Given the description of an element on the screen output the (x, y) to click on. 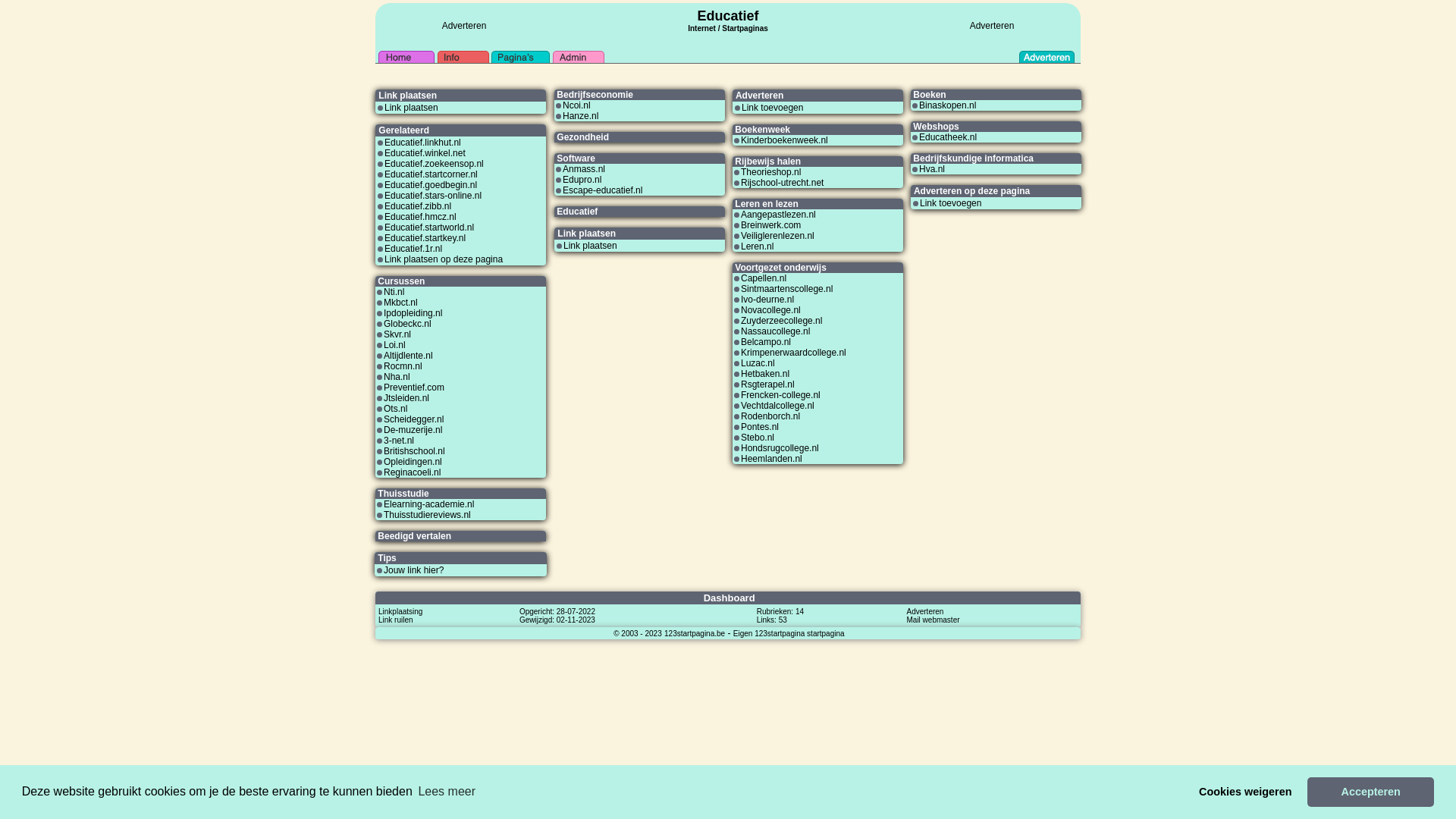
Educatief.linkhut.nl Element type: text (422, 142)
Educatief.zibb.nl Element type: text (417, 205)
Nassaucollege.nl Element type: text (774, 331)
Nti.nl Element type: text (393, 291)
Hva.nl Element type: text (931, 168)
Hondsrugcollege.nl Element type: text (779, 447)
Scheidegger.nl Element type: text (413, 419)
Edupro.nl Element type: text (581, 179)
Mkbct.nl Element type: text (400, 302)
Jouw link hier? Element type: text (413, 569)
Cookies weigeren Element type: text (1245, 791)
Altijdlente.nl Element type: text (408, 355)
Jtsleiden.nl Element type: text (406, 397)
Vechtdalcollege.nl Element type: text (777, 405)
Link toevoegen Element type: text (950, 202)
Stebo.nl Element type: text (757, 437)
Globeckc.nl Element type: text (407, 323)
Novacollege.nl Element type: text (770, 309)
Ivo-deurne.nl Element type: text (766, 299)
Educatief Element type: text (727, 15)
Mail webmaster Element type: text (933, 619)
Opleidingen.nl Element type: text (412, 461)
Rocmn.nl Element type: text (402, 365)
Nha.nl Element type: text (396, 376)
Internet Element type: text (701, 26)
Belcampo.nl Element type: text (765, 341)
Educatief.hmcz.nl Element type: text (420, 216)
Adverteren Element type: text (464, 25)
Hanze.nl Element type: text (580, 115)
Rsgterapel.nl Element type: text (767, 384)
Kinderboekenweek.nl Element type: text (784, 139)
Aangepastlezen.nl Element type: text (777, 214)
Educatief.startkey.nl Element type: text (424, 237)
Zuyderzeecollege.nl Element type: text (781, 320)
De-muzerije.nl Element type: text (412, 429)
Accepteren Element type: text (1370, 791)
Link plaatsen op deze pagina Element type: text (443, 259)
Educatief.1r.nl Element type: text (413, 248)
Linkplaatsing Element type: text (400, 610)
Elearning-academie.nl Element type: text (428, 503)
Educatief.zoekeensop.nl Element type: text (433, 163)
Escape-educatief.nl Element type: text (602, 190)
Loi.nl Element type: text (394, 344)
Pontes.nl Element type: text (759, 426)
Eigen 123startpagina startpagina Element type: text (788, 632)
Educatief.startworld.nl Element type: text (428, 227)
Rijschool-utrecht.net Element type: text (781, 182)
Ipdopleiding.nl Element type: text (412, 312)
Reginacoeli.nl Element type: text (411, 472)
Startpaginas Element type: text (744, 28)
Krimpenerwaardcollege.nl Element type: text (793, 352)
Sintmaartenscollege.nl Element type: text (786, 288)
Adverteren Element type: text (925, 610)
Educatheek.nl Element type: text (947, 136)
Veiliglerenlezen.nl Element type: text (777, 235)
Link ruilen Element type: text (395, 619)
Britishschool.nl Element type: text (414, 450)
Link toevoegen Element type: text (772, 107)
Breinwerk.com Element type: text (770, 224)
Binaskopen.nl Element type: text (947, 105)
Ots.nl Element type: text (395, 408)
Theorieshop.nl Element type: text (770, 171)
Preventief.com Element type: text (413, 387)
Link plaatsen Element type: text (590, 245)
3-net.nl Element type: text (398, 440)
Frencken-college.nl Element type: text (780, 394)
Thuisstudiereviews.nl Element type: text (426, 514)
Educatief.winkel.net Element type: text (424, 152)
Luzac.nl Element type: text (757, 362)
123startpagina.be Element type: text (694, 632)
Heemlanden.nl Element type: text (771, 458)
Educatief.goedbegin.nl Element type: text (430, 184)
Capellen.nl Element type: text (763, 278)
Educatief.startcorner.nl Element type: text (430, 174)
Skvr.nl Element type: text (397, 334)
Anmass.nl Element type: text (583, 168)
Ncoi.nl Element type: text (576, 105)
Adverteren Element type: text (991, 25)
Link plaatsen Element type: text (411, 107)
Hetbaken.nl Element type: text (764, 373)
Educatief.stars-online.nl Element type: text (432, 195)
Rodenborch.nl Element type: text (770, 416)
Leren.nl Element type: text (756, 246)
Lees meer Element type: text (446, 791)
